Given the description of an element on the screen output the (x, y) to click on. 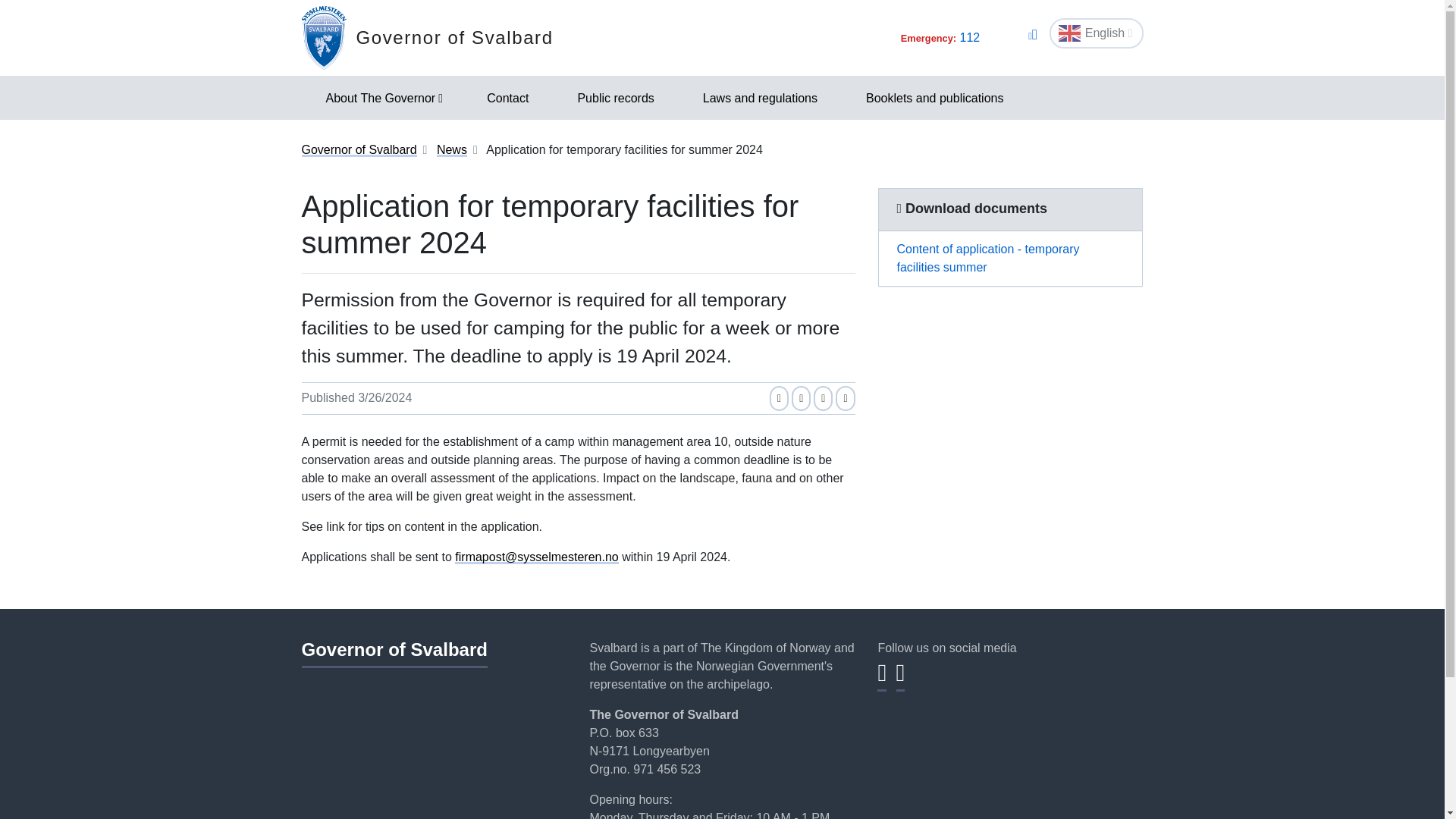
Governor of Svalbard (427, 37)
Content of application - temporary facilities summer (1009, 257)
Governor of Svalbard (358, 150)
Public records (615, 97)
112 (969, 37)
News (451, 150)
Laws and regulations (759, 97)
English (1095, 33)
Booklets and publications (934, 97)
Contact (508, 97)
Governor of Svalbard (394, 653)
Content of application - temporary facilities summer (1009, 257)
About The Governor (382, 97)
